Given the description of an element on the screen output the (x, y) to click on. 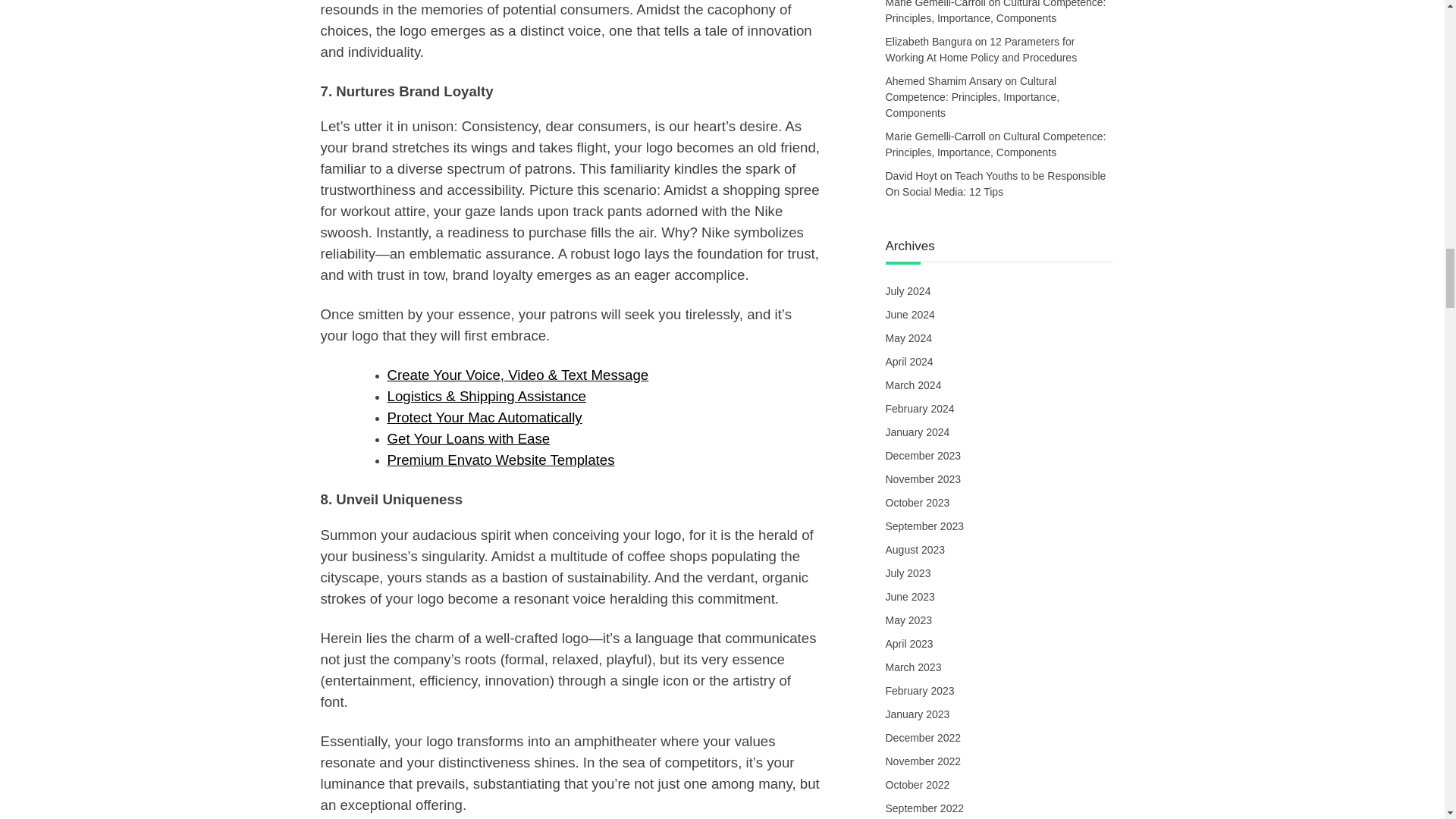
Protect Your Mac Automatically (483, 417)
Premium Envato Website Templates (500, 459)
Get Your Loans with Ease (468, 438)
